Given the description of an element on the screen output the (x, y) to click on. 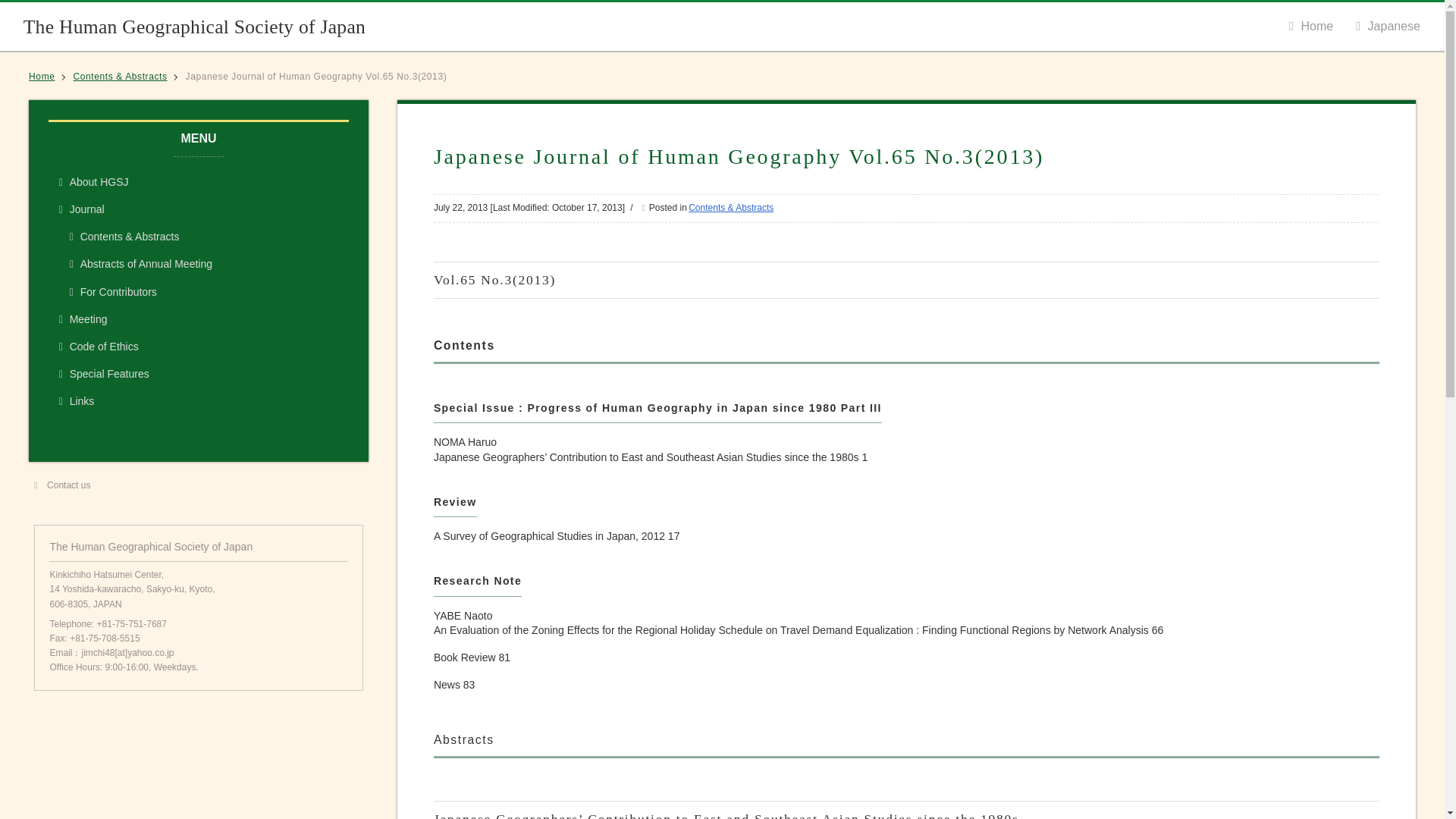
Home (1310, 26)
Japanese (1388, 26)
Meeting (198, 318)
Special Features (198, 374)
Contact us (197, 485)
Abstracts of Annual Meeting (203, 264)
Home (42, 76)
Links (198, 401)
The Human Geographical Society of Japan (194, 25)
For Contributors (203, 291)
